Given the description of an element on the screen output the (x, y) to click on. 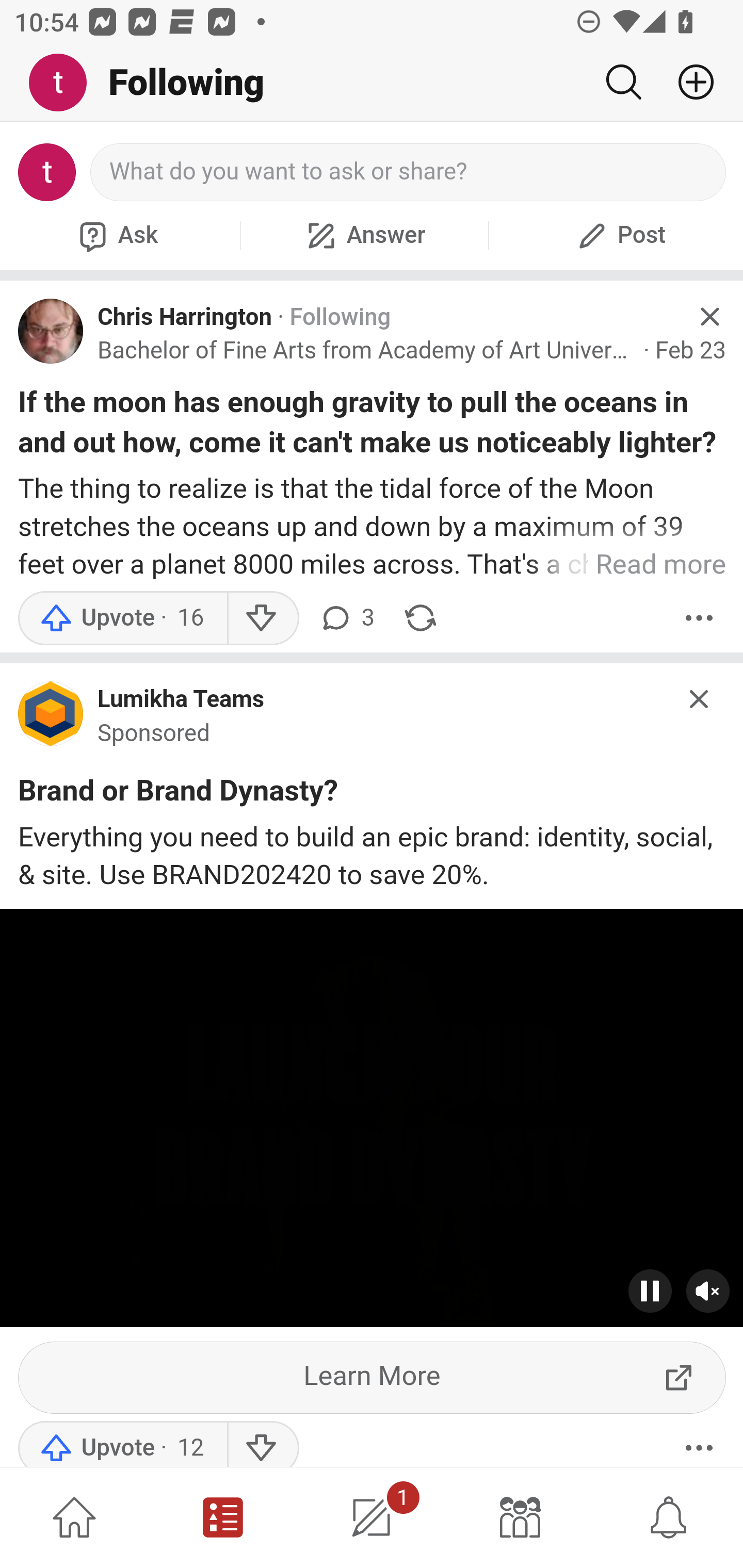
Me (64, 83)
Search (623, 82)
Add (688, 82)
What do you want to ask or share? (408, 172)
Ask (116, 234)
Answer (364, 234)
Post (618, 234)
Hide (709, 316)
Profile photo for Chris Harrington (50, 330)
Chris Harrington (184, 316)
Following (340, 316)
Upvote (122, 617)
Downvote (262, 617)
3 comments (346, 617)
Share (420, 617)
More (699, 617)
Hide (699, 699)
main-qimg-f5d4e8fd1215ba730a24b98a5815bcba (50, 717)
Lumikha Teams (181, 700)
Sponsored (154, 733)
Brand or Brand Dynasty? (178, 794)
Pause (650, 1290)
VolumeMuted (708, 1290)
Learn More ExternalLink (372, 1377)
Upvote (122, 1444)
Downvote (262, 1444)
More (699, 1444)
1 (371, 1517)
